Given the description of an element on the screen output the (x, y) to click on. 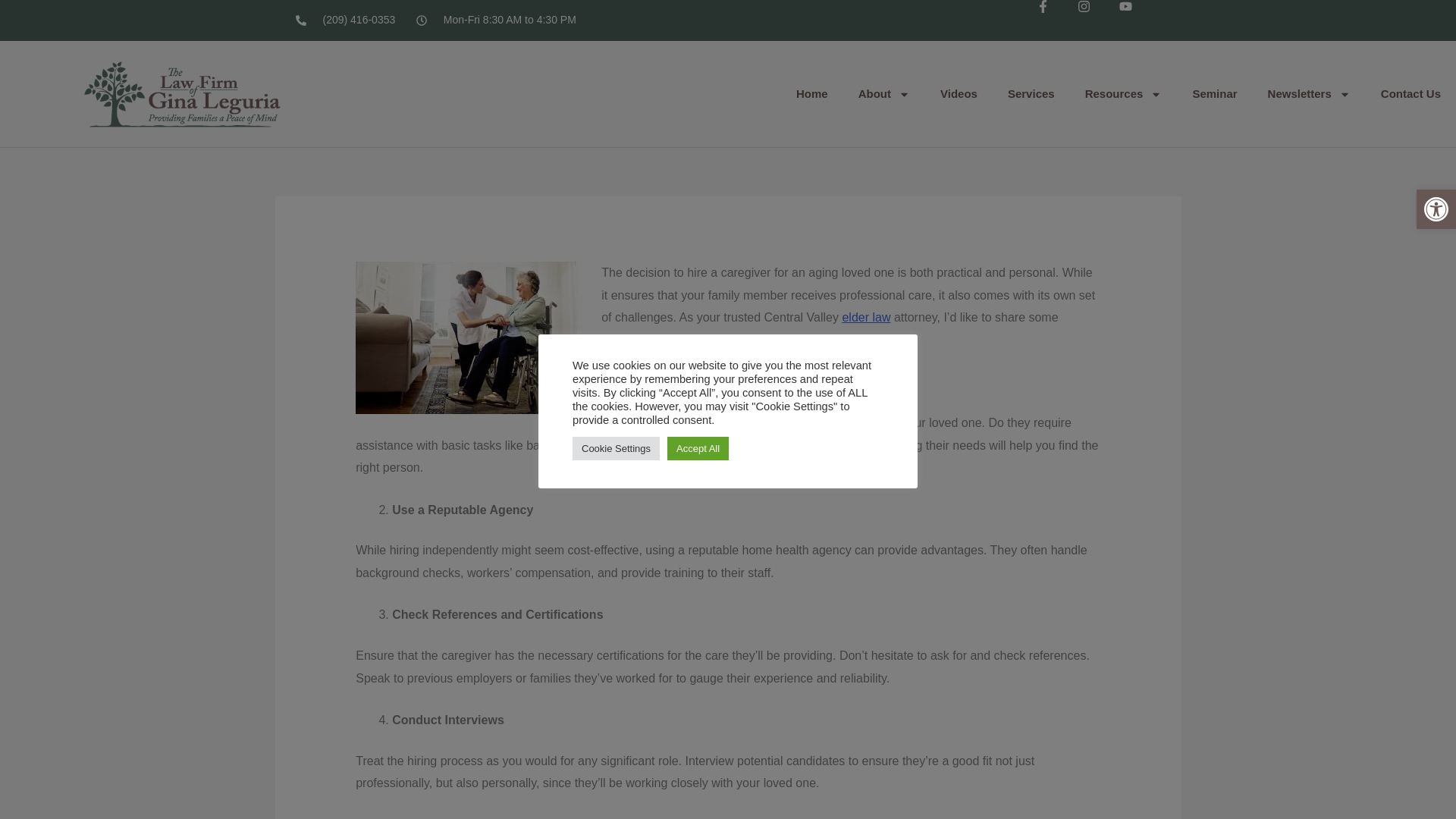
Facebook-f (1056, 20)
Newsletters (1308, 93)
Youtube (1139, 20)
Resources (1123, 93)
Accessibility Tools (1435, 209)
Instagram (1097, 20)
